Given the description of an element on the screen output the (x, y) to click on. 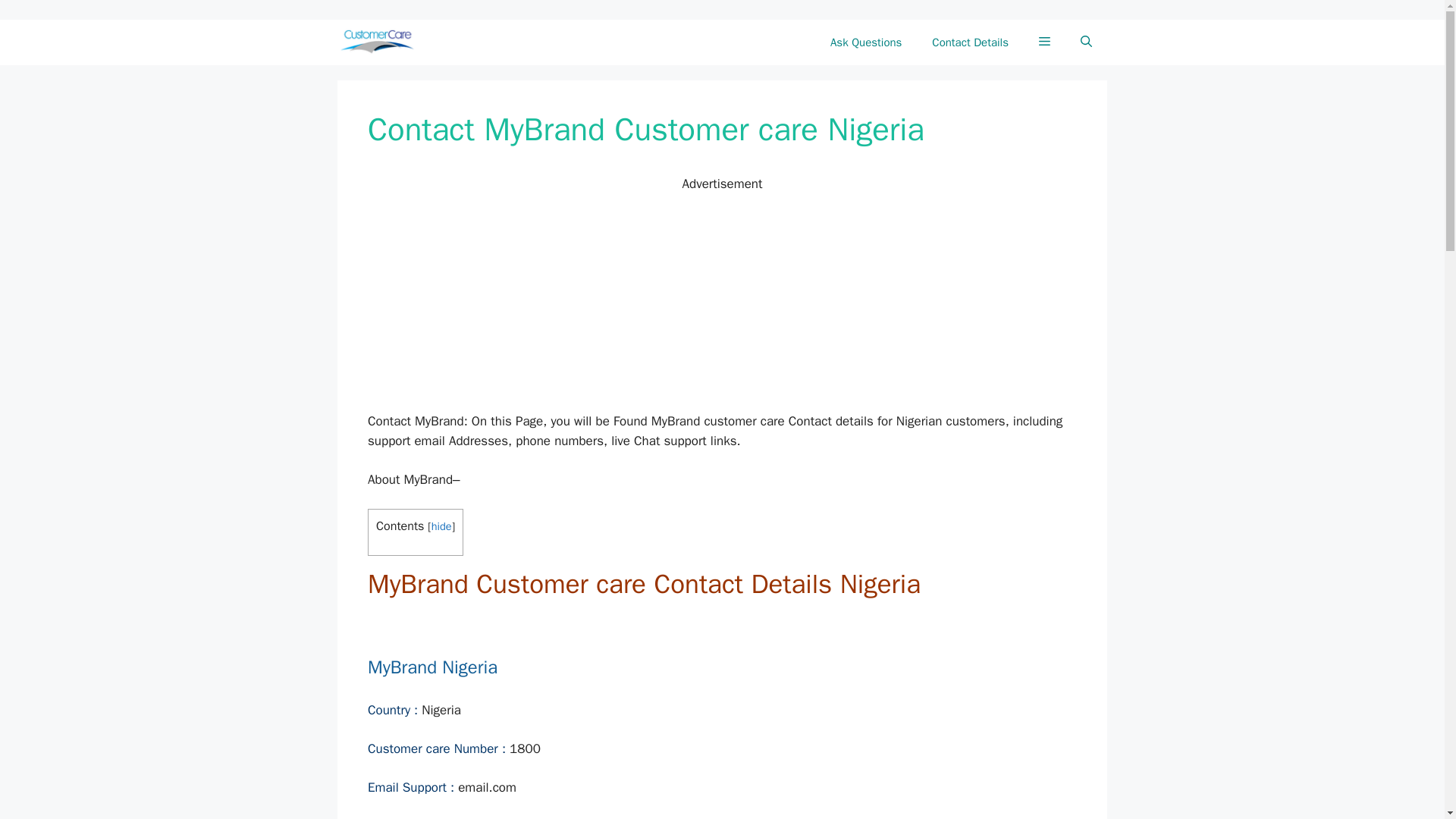
hide (440, 526)
Customer Care Hotline (380, 42)
Contact Details (970, 42)
Ask Questions (866, 42)
Customer Care Hotline (376, 42)
